Given the description of an element on the screen output the (x, y) to click on. 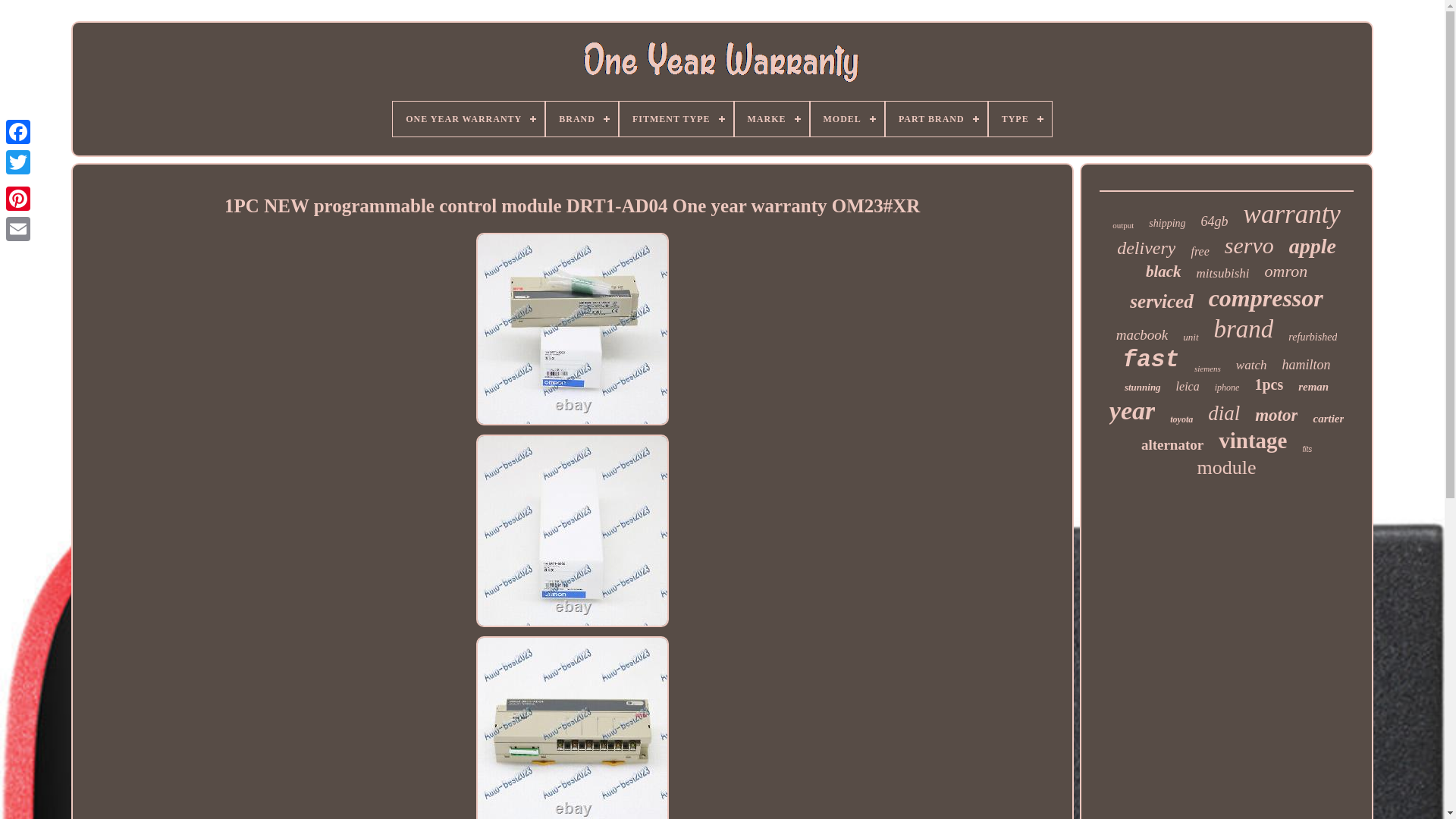
FITMENT TYPE (676, 118)
BRAND (581, 118)
ONE YEAR WARRANTY (468, 118)
MARKE (772, 118)
